Given the description of an element on the screen output the (x, y) to click on. 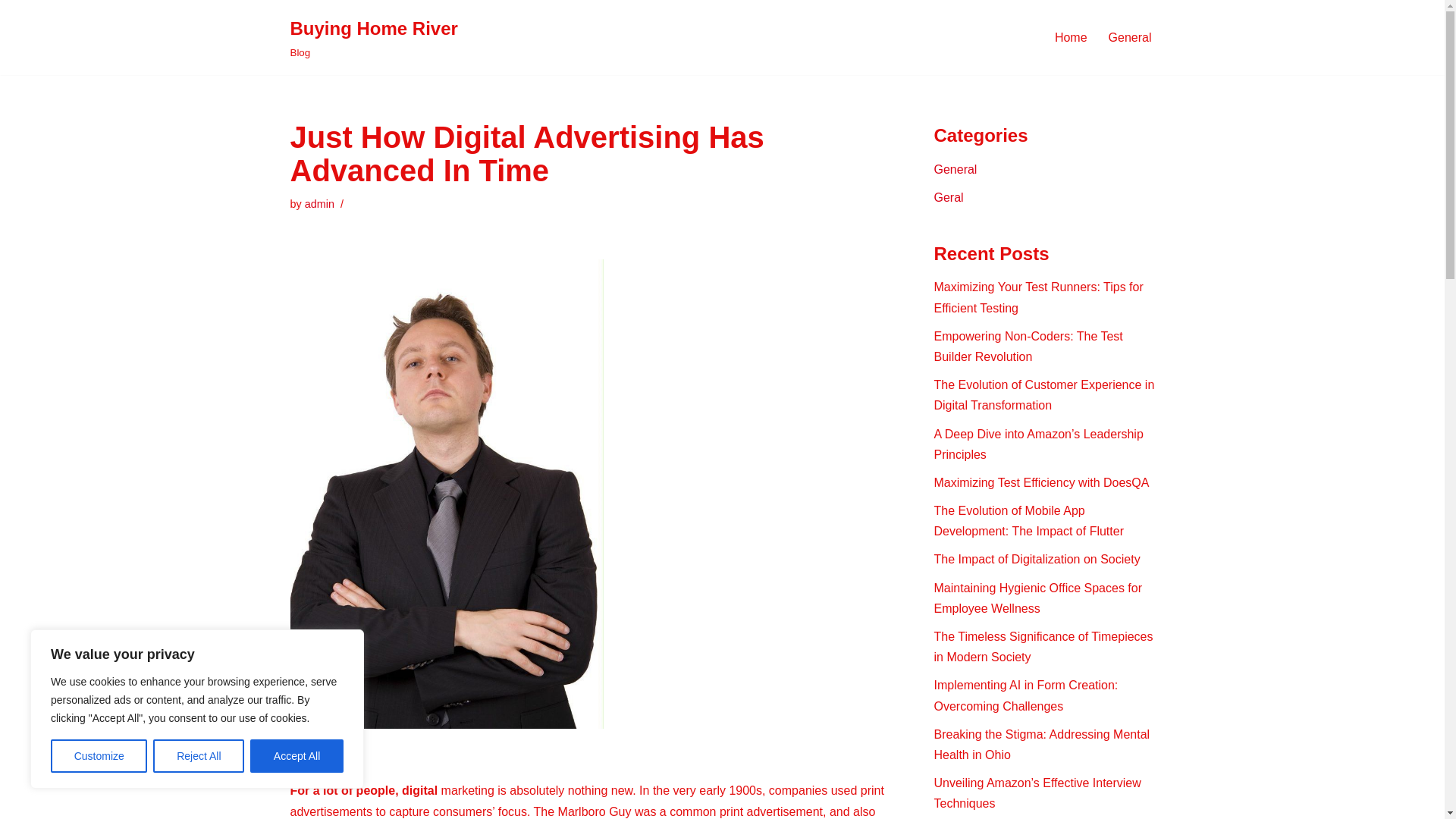
Accept All (296, 756)
admin (373, 37)
General (319, 203)
General (955, 169)
Posts by admin (1129, 37)
Geral (319, 203)
Customize (948, 196)
Empowering Non-Coders: The Test Builder Revolution (98, 756)
Reject All (1028, 346)
Home (198, 756)
Maximizing Your Test Runners: Tips for Efficient Testing (1070, 37)
Maximizing Test Efficiency with DoesQA (1038, 296)
Skip to content (1042, 481)
